Given the description of an element on the screen output the (x, y) to click on. 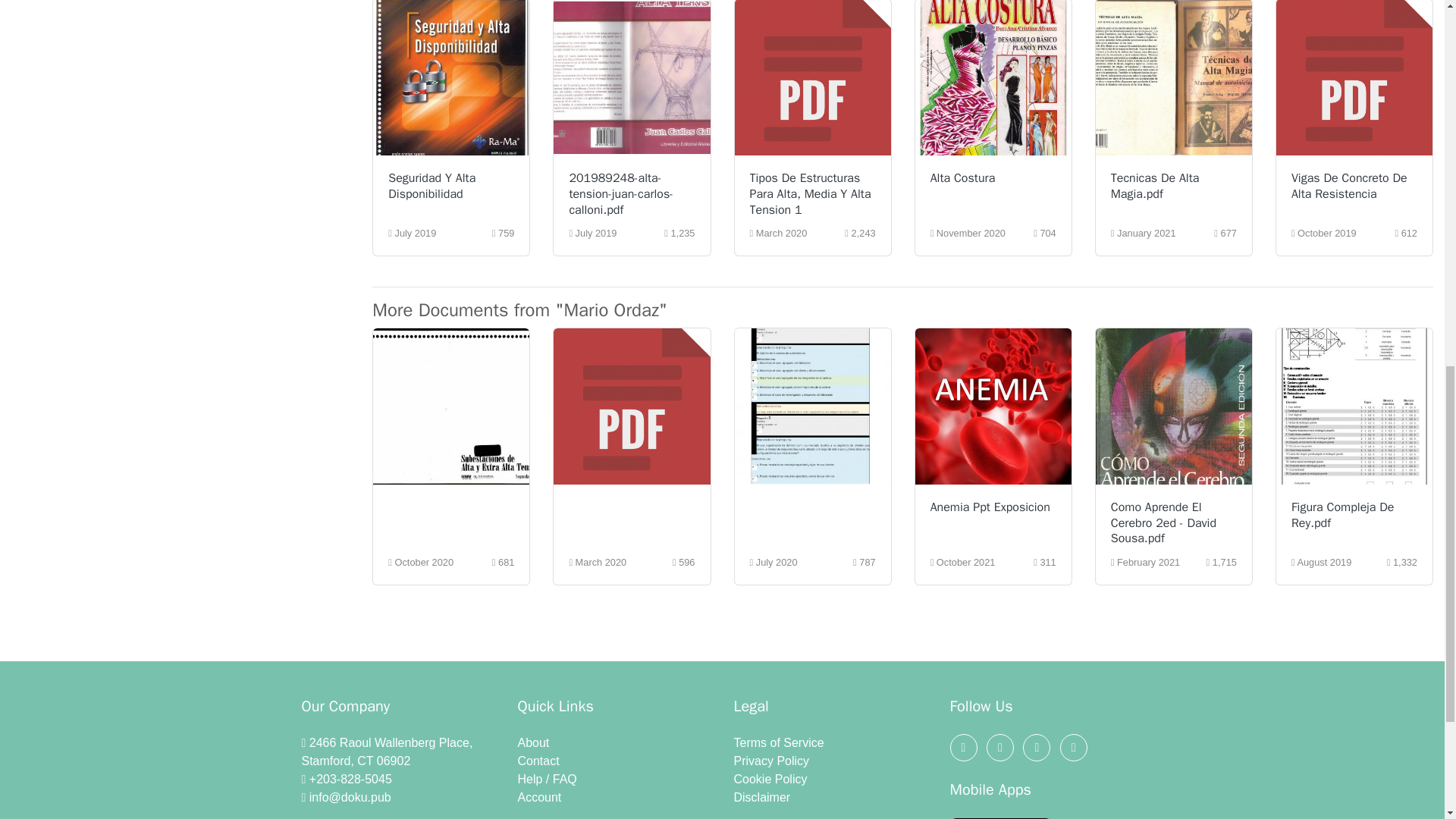
Vigas De Concreto De Alta Resistencia (1349, 185)
Tipos De Estructuras Para Alta, Media Y Alta Tension 1 (809, 193)
Alta Costura (962, 177)
201989248-alta-tension-juan-carlos-calloni.pdf (620, 193)
Anemia Ppt Exposicion (989, 507)
Tecnicas De Alta Magia.pdf (1154, 185)
Seguridad Y Alta Disponibilidad (432, 185)
